Given the description of an element on the screen output the (x, y) to click on. 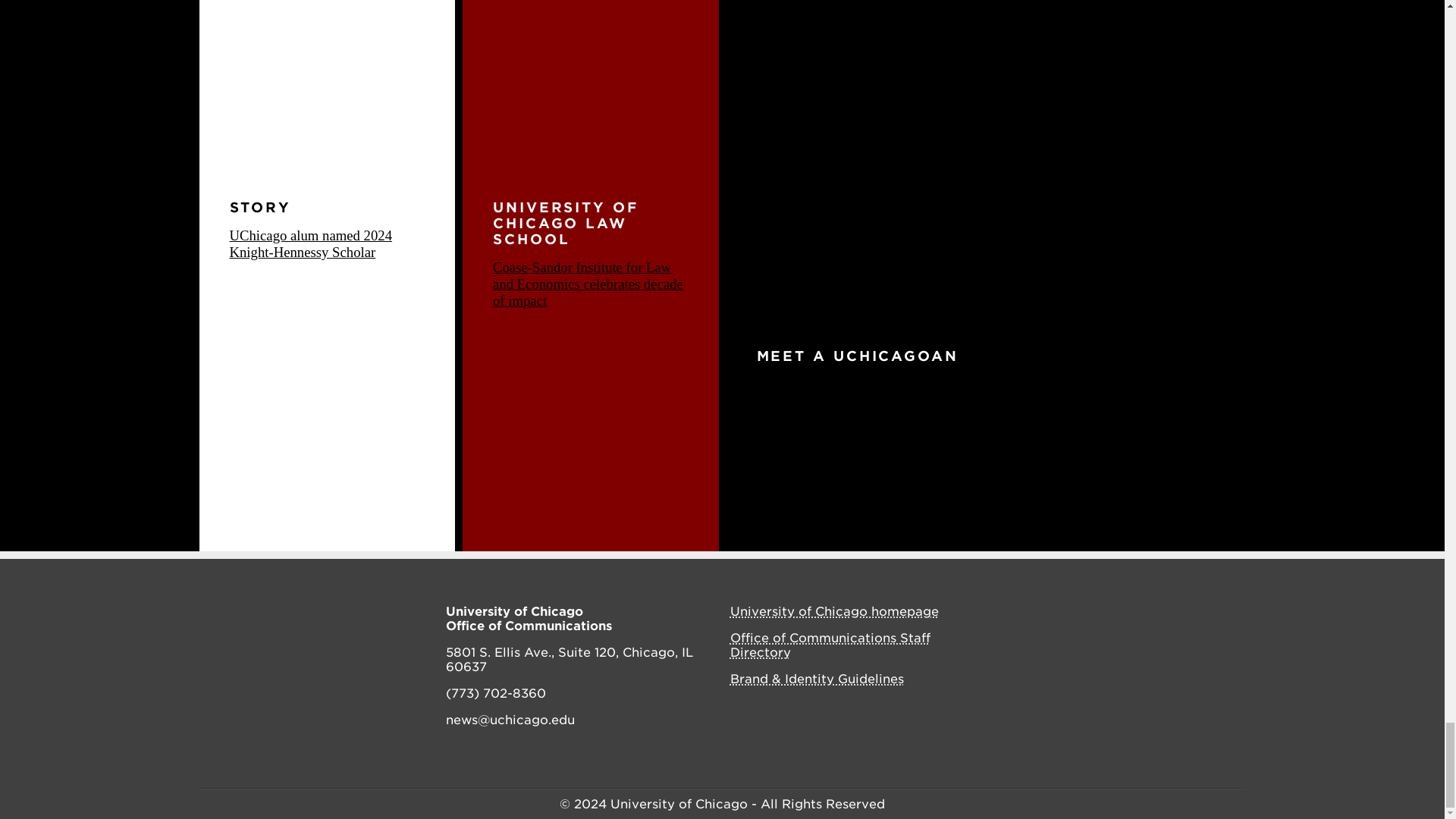
Connect with UChicago on Linkedin (1181, 613)
UChicago alum named 2024 Knight-Hennessy Scholar (309, 243)
Connect with UChicago on Instagram (1112, 613)
Office of Communications Staff Directory (829, 645)
University of Chicago homepage (833, 611)
Connect with UChicago on Twitter (1146, 613)
Organist pulls out all the stops to bring Bach to UChicago (970, 449)
Connect with UChicago on Youtube (1214, 613)
Connect with UChicago on Facebook (1081, 613)
